Given the description of an element on the screen output the (x, y) to click on. 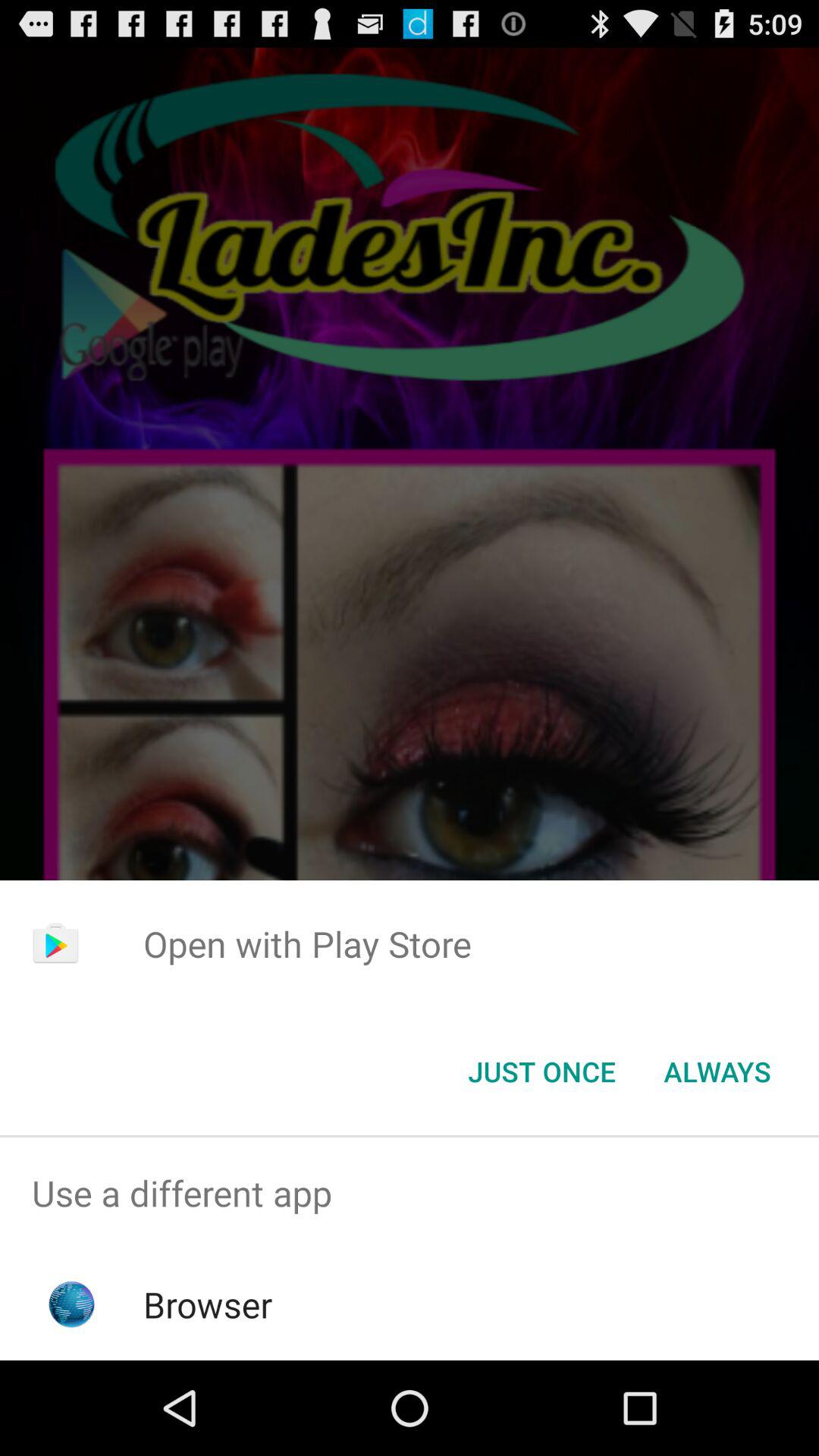
click the item below the use a different icon (207, 1304)
